Given the description of an element on the screen output the (x, y) to click on. 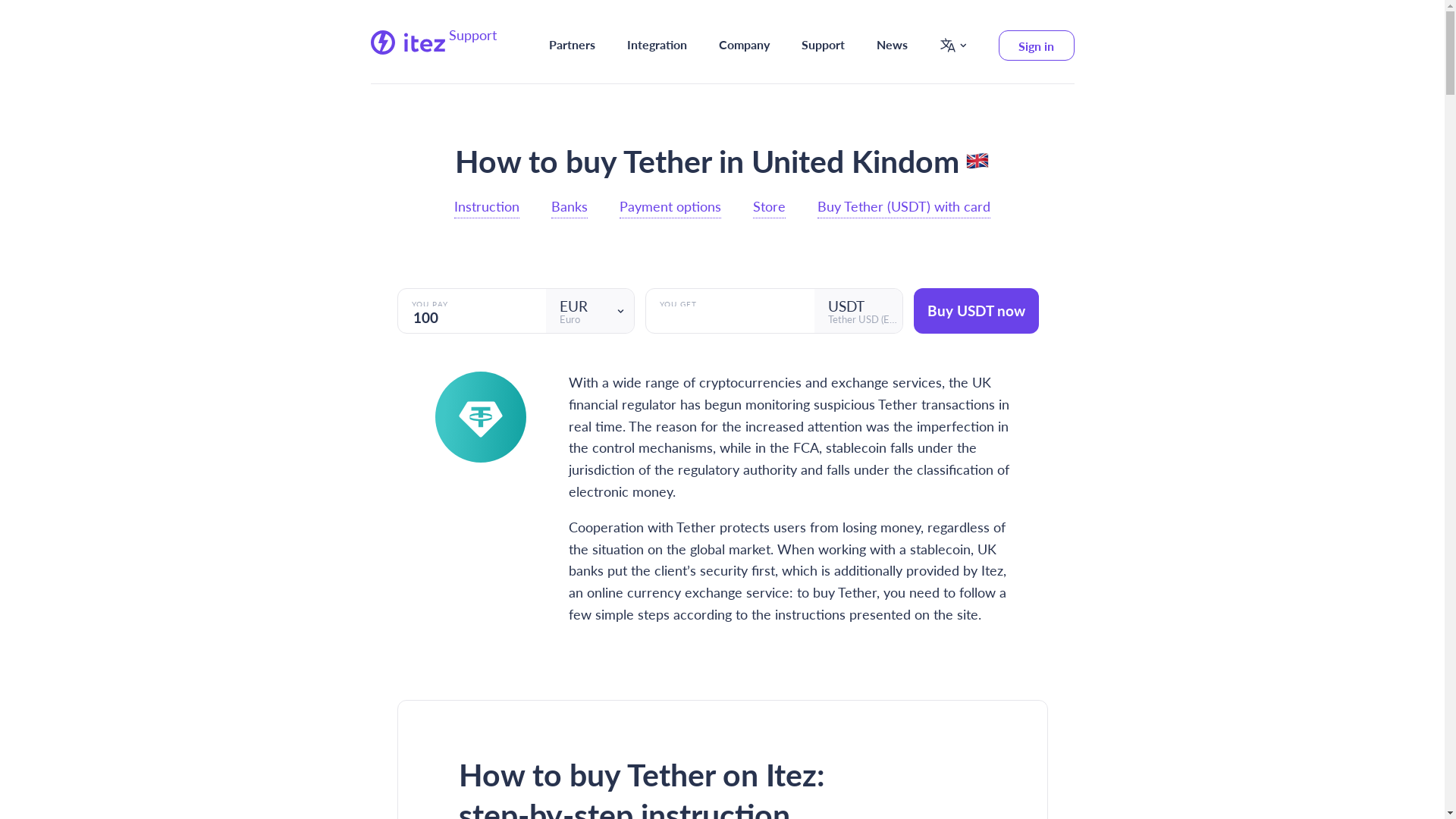
Payment options Element type: text (670, 206)
Instruction Element type: text (486, 206)
Integration Element type: text (656, 44)
Support Element type: text (822, 44)
Banks Element type: text (569, 206)
Buy Tether (USDT) with card Element type: text (903, 206)
Partners Element type: text (572, 44)
Sign in Element type: text (1035, 45)
News Element type: text (891, 44)
Support Element type: text (472, 40)
Store Element type: text (769, 206)
Buy USDT now Element type: text (975, 310)
